Given the description of an element on the screen output the (x, y) to click on. 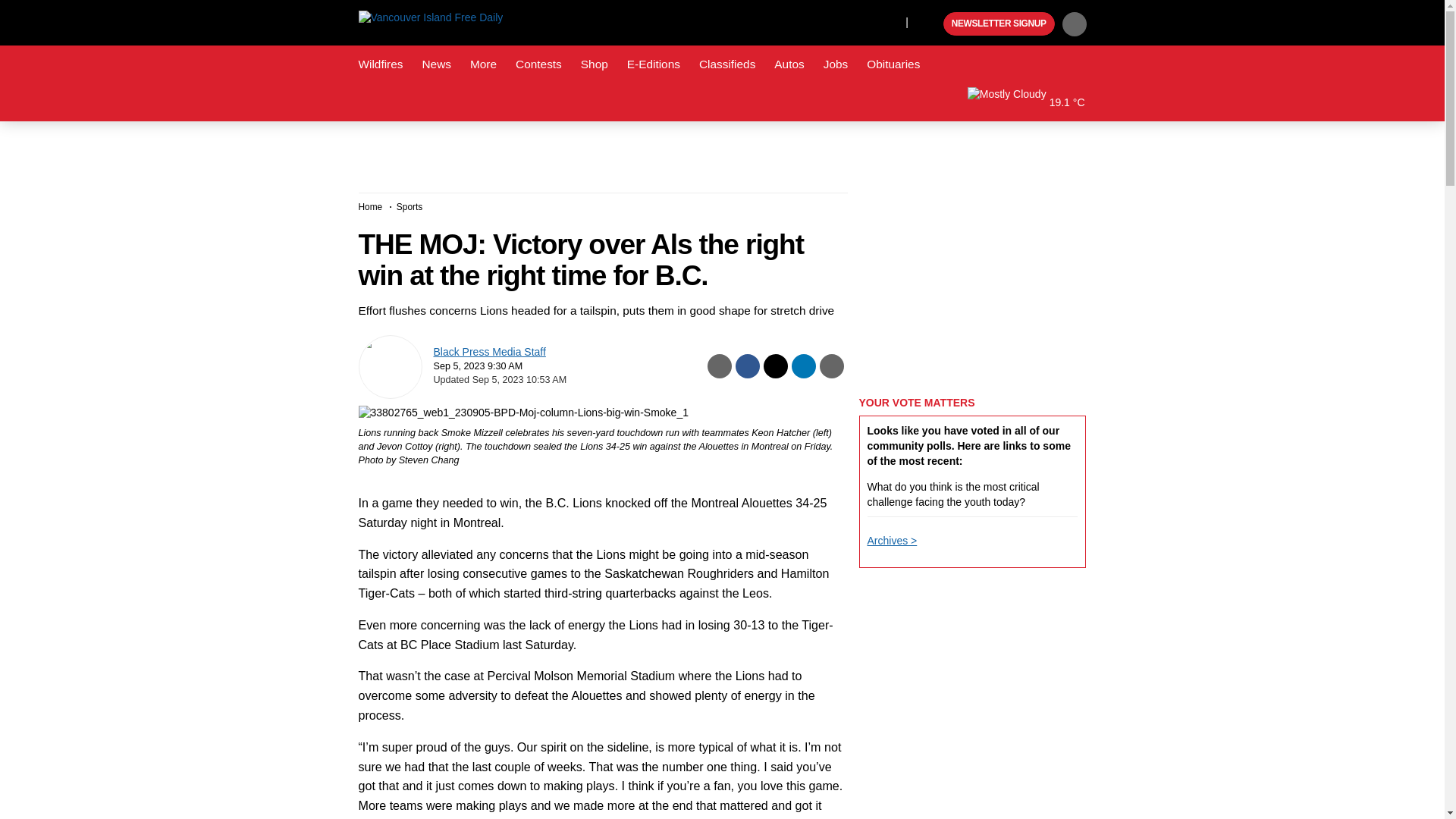
X (853, 21)
NEWSLETTER SIGNUP (998, 24)
Facebook (823, 21)
Black Press Media (929, 24)
Instagram (889, 21)
News (435, 64)
Wildfires (380, 64)
Play (929, 24)
